Given the description of an element on the screen output the (x, y) to click on. 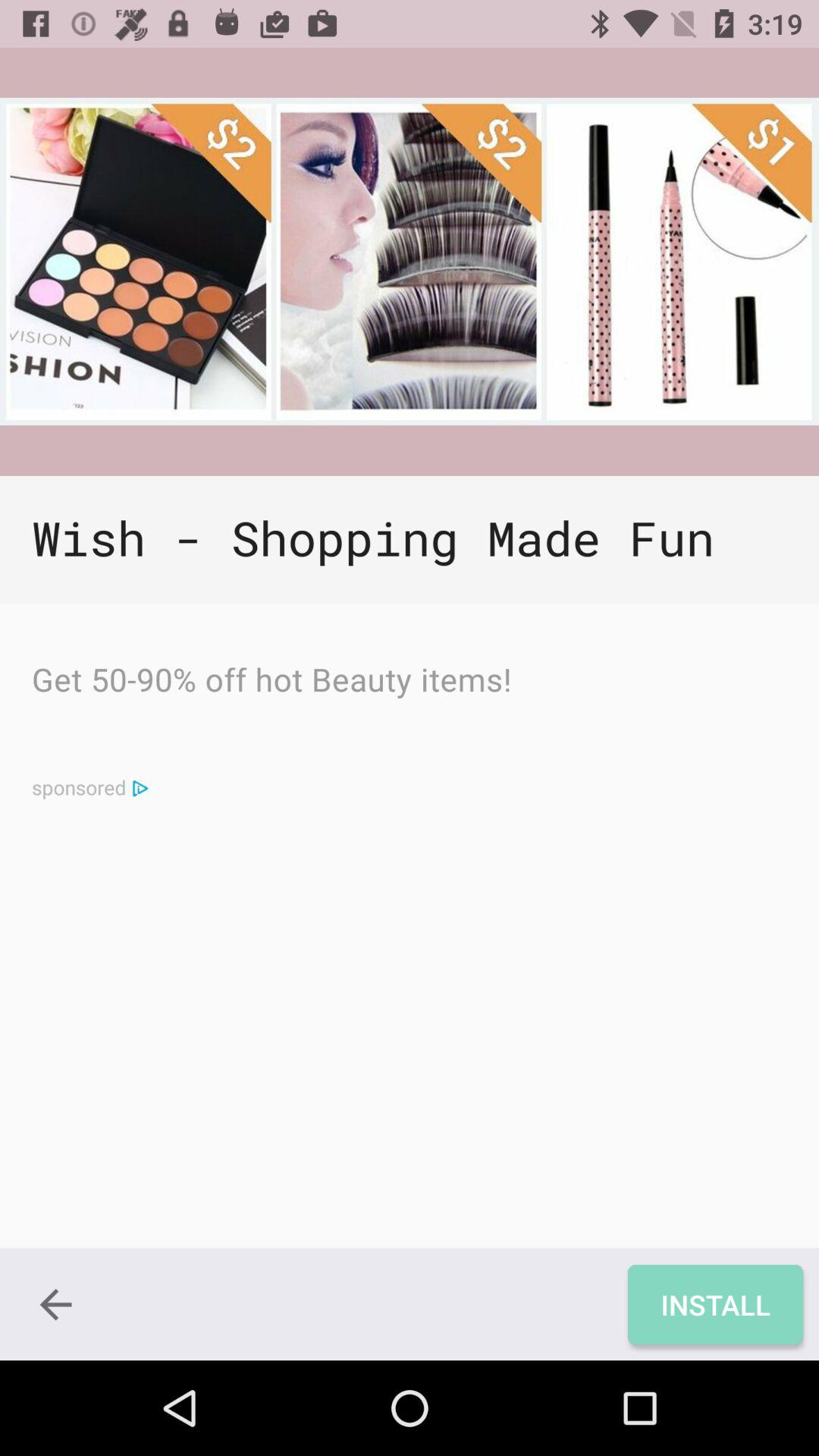
turn off icon below the sponsored icon (55, 1304)
